Given the description of an element on the screen output the (x, y) to click on. 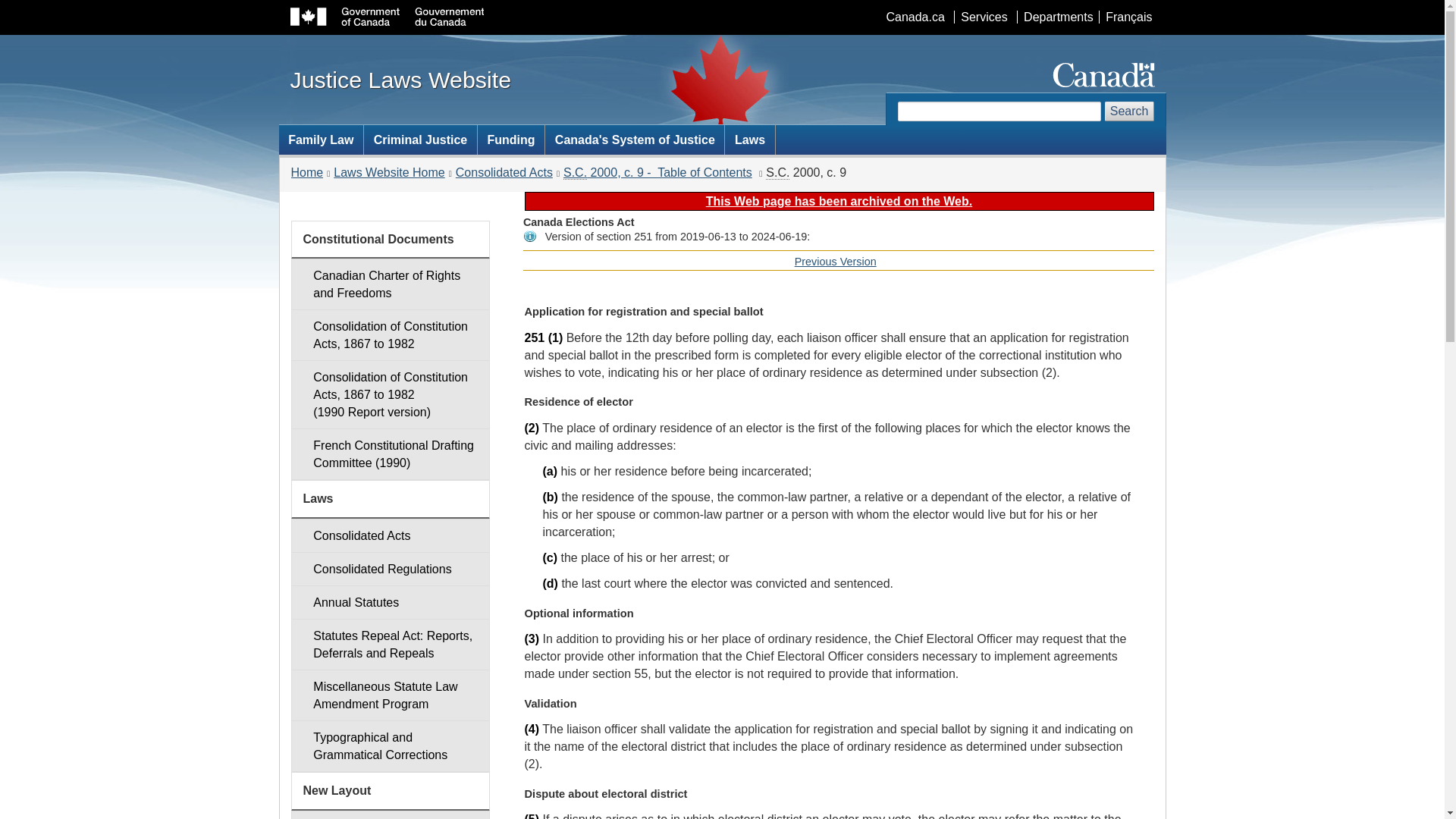
Consolidated Acts (390, 535)
Laws (749, 139)
Search (1129, 111)
Justice Laws Website (400, 79)
Consolidation of Constitution Acts, 1867 to 1982 (390, 335)
Consolidated Regulations and Orders (390, 569)
Statutes Repeal Act: Reports, Deferrals and Repeals (390, 644)
Funding (510, 139)
Laws Website Home (388, 172)
Criminal Justice (420, 139)
251 (534, 337)
Consolidated Regulations (390, 569)
Home (835, 261)
Family Law (307, 172)
